Given the description of an element on the screen output the (x, y) to click on. 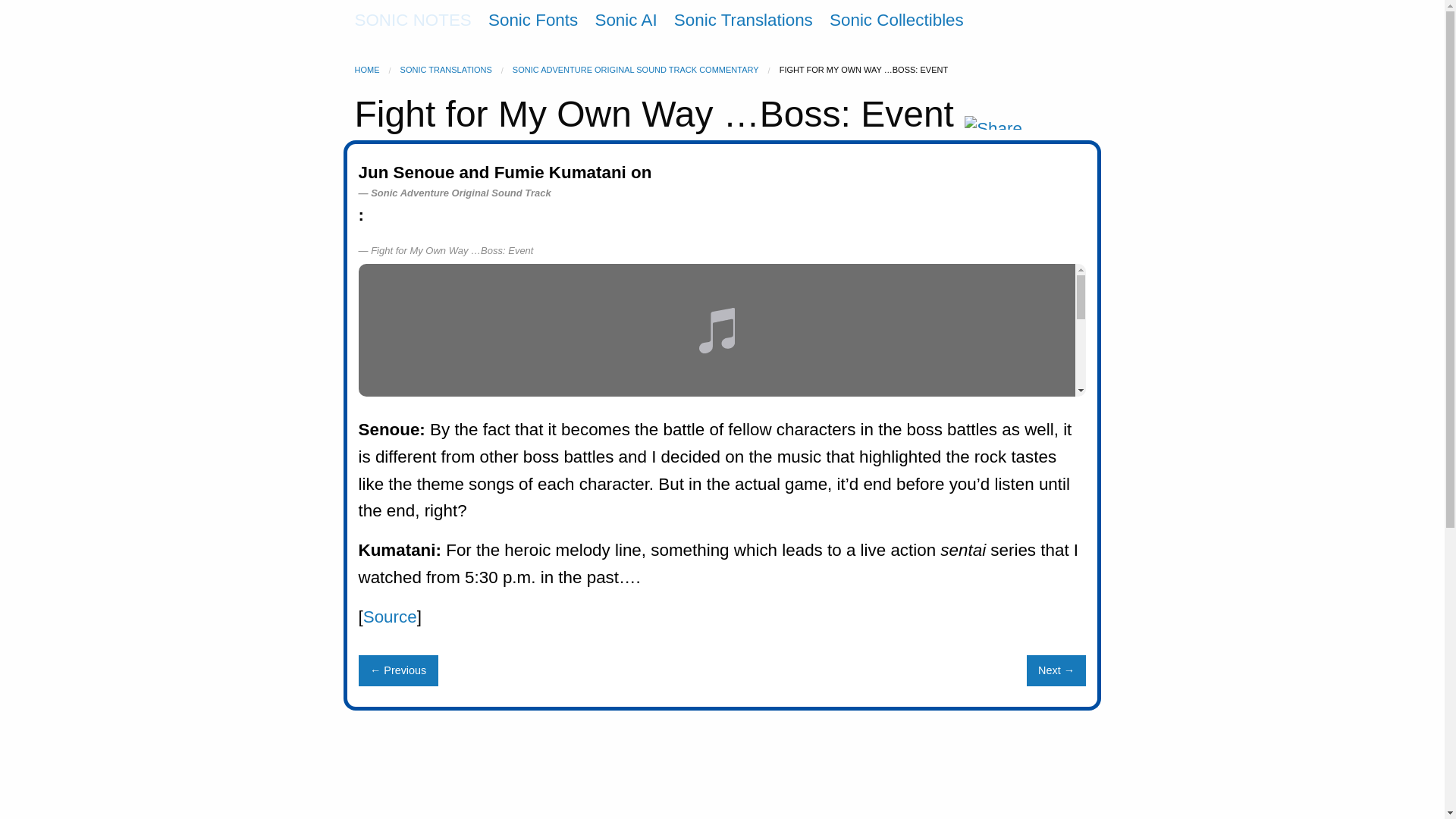
SONIC ADVENTURE ORIGINAL SOUND TRACK COMMENTARY (635, 69)
SONIC NOTES (413, 20)
Sonic Fonts (532, 20)
HOME (367, 69)
Sonic Collectibles (896, 20)
Sonic AI (625, 20)
Source (389, 616)
Sonic Translations (743, 20)
SONIC TRANSLATIONS (446, 69)
